Given the description of an element on the screen output the (x, y) to click on. 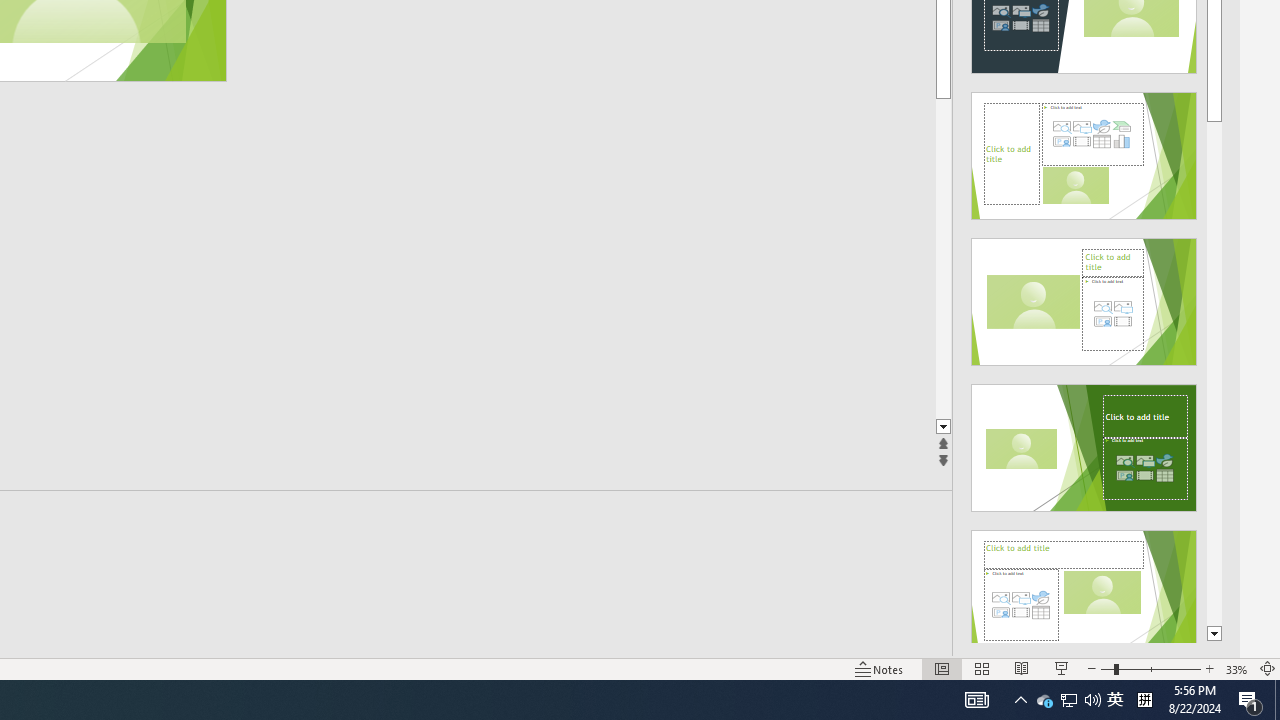
Design Idea (1083, 587)
Zoom 33% (1236, 668)
